Given the description of an element on the screen output the (x, y) to click on. 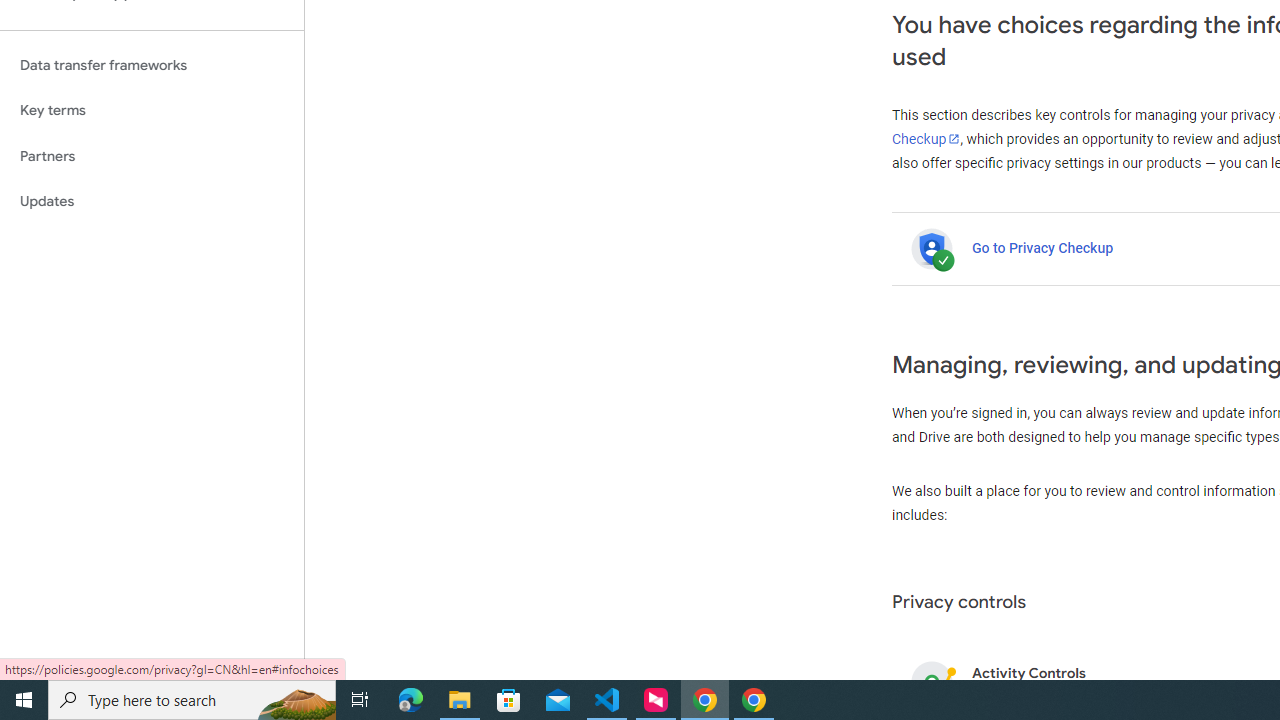
Go to Privacy Checkup (1042, 248)
Data transfer frameworks (152, 65)
Key terms (152, 110)
Partners (152, 156)
Updates (152, 201)
